Given the description of an element on the screen output the (x, y) to click on. 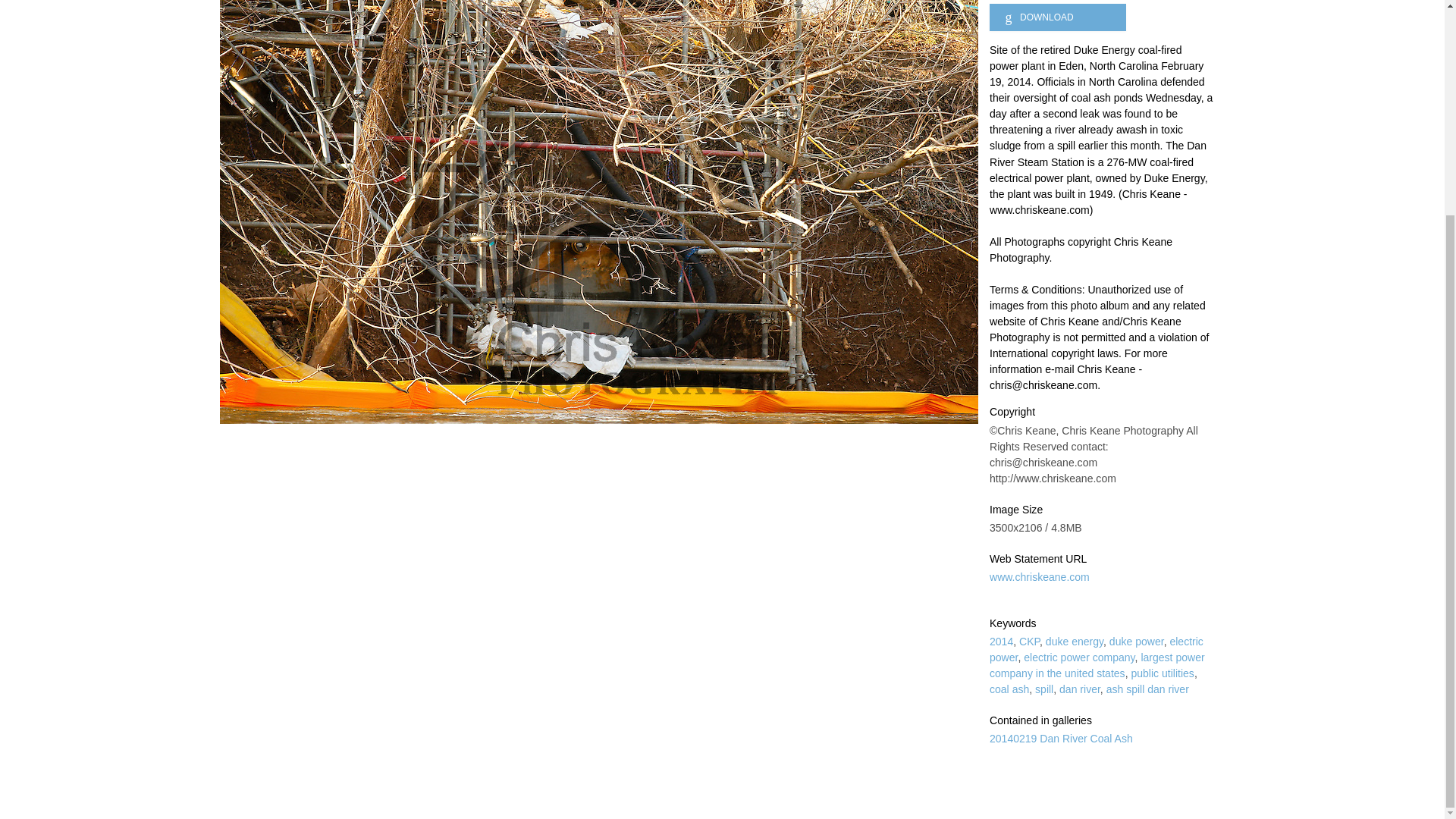
ash spill dan river (1147, 689)
largest power company in the united states (1097, 665)
CKP (1029, 641)
public utilities (1162, 673)
20140219 Dan River Coal Ash (1061, 738)
electric power (1097, 649)
coal ash (1009, 689)
2014 (1001, 641)
duke energy (1074, 641)
electric power company (1078, 657)
